Given the description of an element on the screen output the (x, y) to click on. 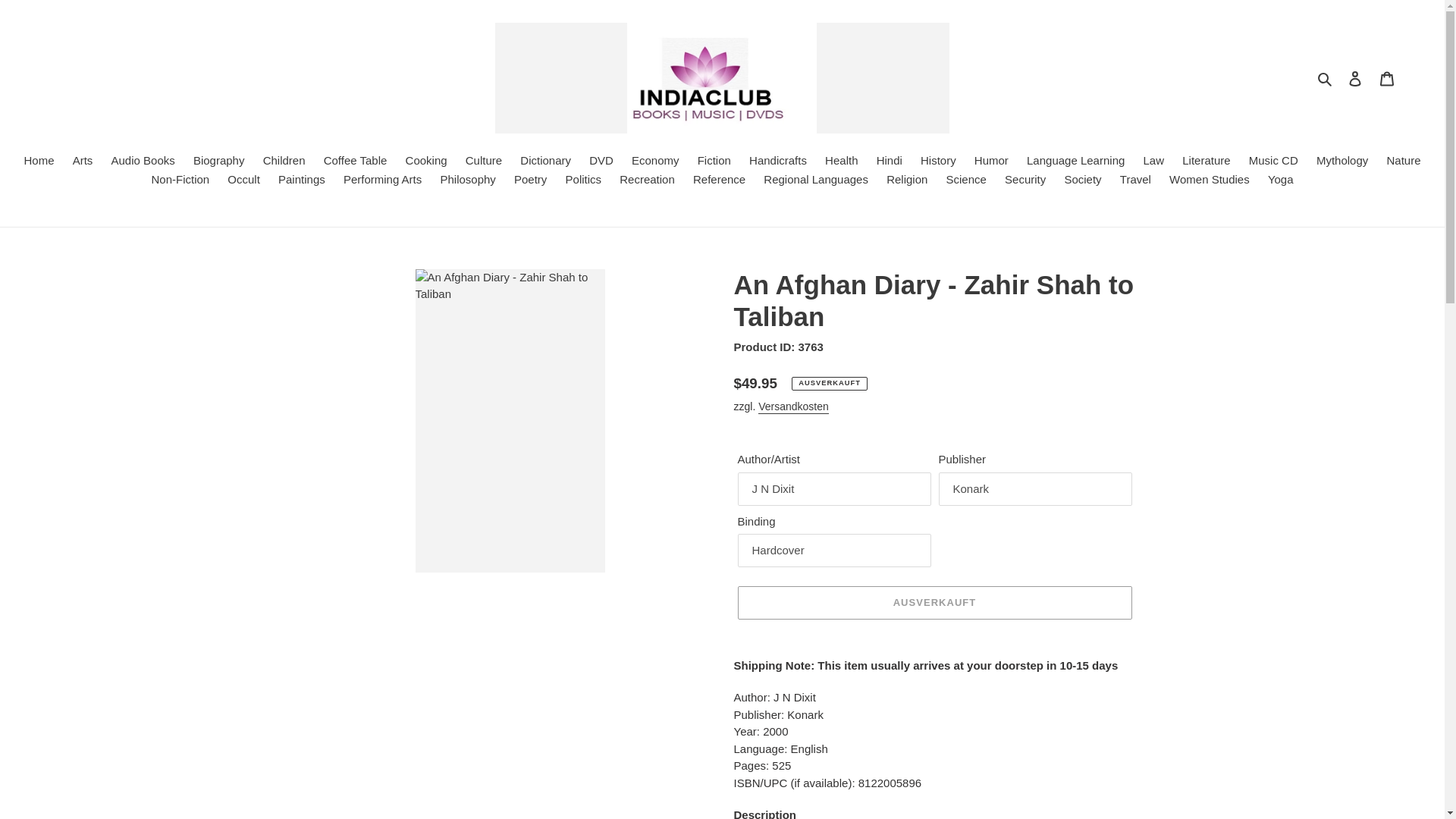
Einloggen (1355, 78)
Suchen (1326, 77)
Warenkorb (1387, 78)
